Given the description of an element on the screen output the (x, y) to click on. 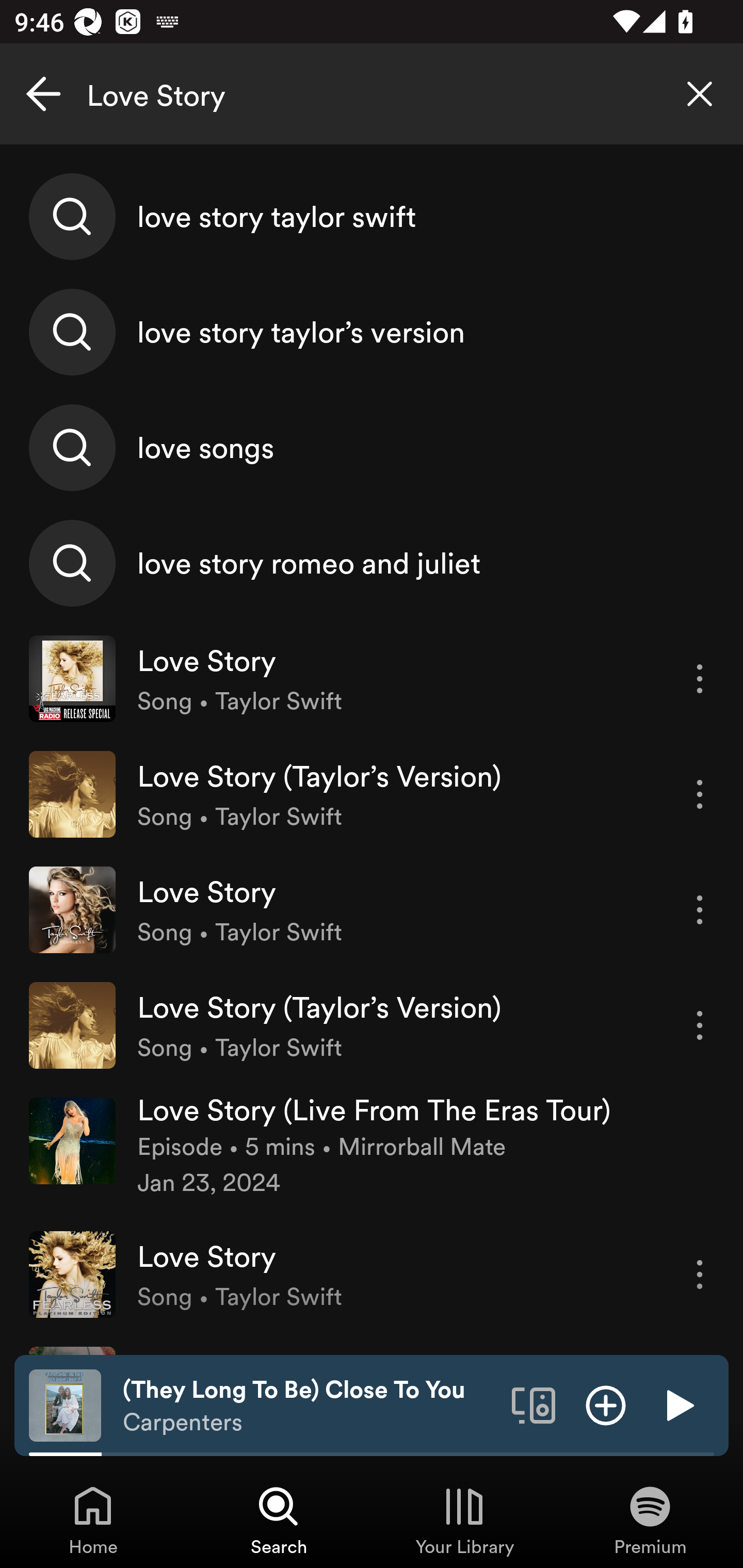
Love Story (371, 93)
Cancel (43, 93)
Clear search query (699, 93)
love story taylor swift (371, 216)
love story taylor’s version (371, 332)
love songs (371, 447)
love story romeo and juliet (371, 562)
More options for song Love Story (699, 678)
More options for song Love Story (699, 910)
More options for song Love Story (699, 1273)
(They Long To Be) Close To You Carpenters (309, 1405)
The cover art of the currently playing track (64, 1404)
Connect to a device. Opens the devices menu (533, 1404)
Add item (605, 1404)
Play (677, 1404)
Home, Tab 1 of 4 Home Home (92, 1519)
Search, Tab 2 of 4 Search Search (278, 1519)
Your Library, Tab 3 of 4 Your Library Your Library (464, 1519)
Premium, Tab 4 of 4 Premium Premium (650, 1519)
